Given the description of an element on the screen output the (x, y) to click on. 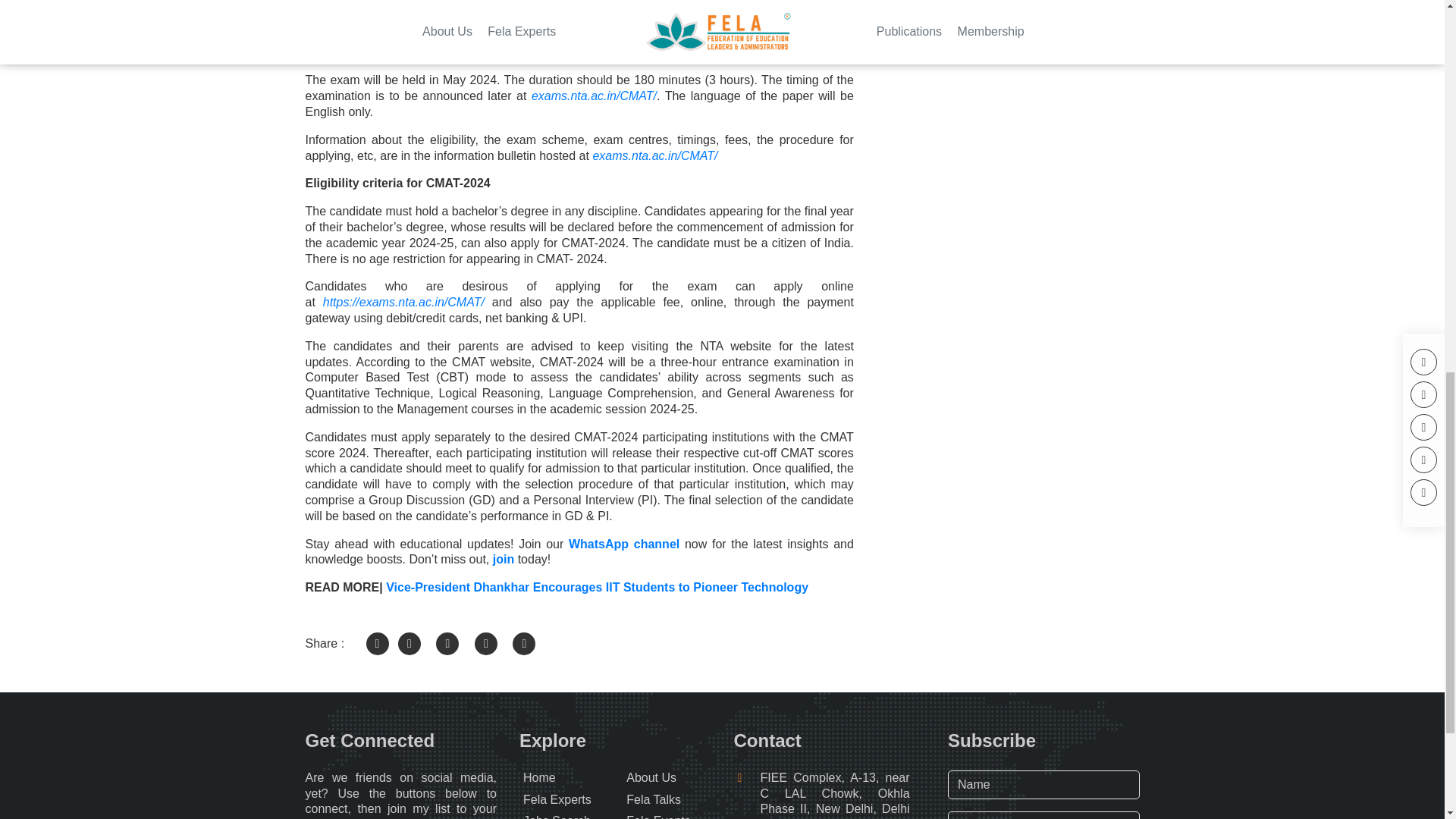
WhatsApp channel  (626, 543)
 join (501, 558)
Read More (945, 57)
